Given the description of an element on the screen output the (x, y) to click on. 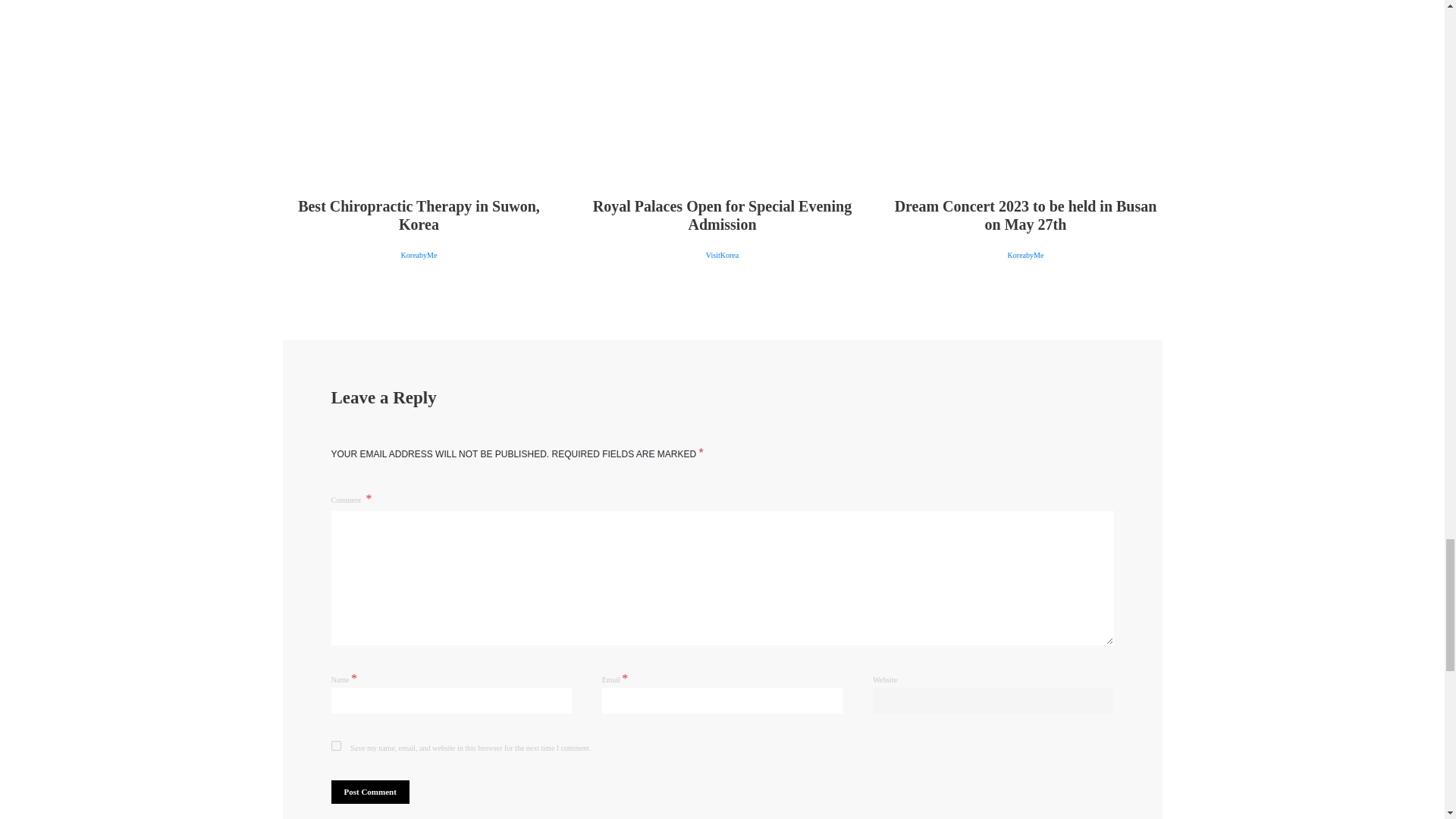
View all posts by VisitKorea (722, 254)
yes (335, 746)
Post Comment (369, 791)
View all posts by KoreabyMe (419, 254)
View all posts by KoreabyMe (1025, 254)
